Given the description of an element on the screen output the (x, y) to click on. 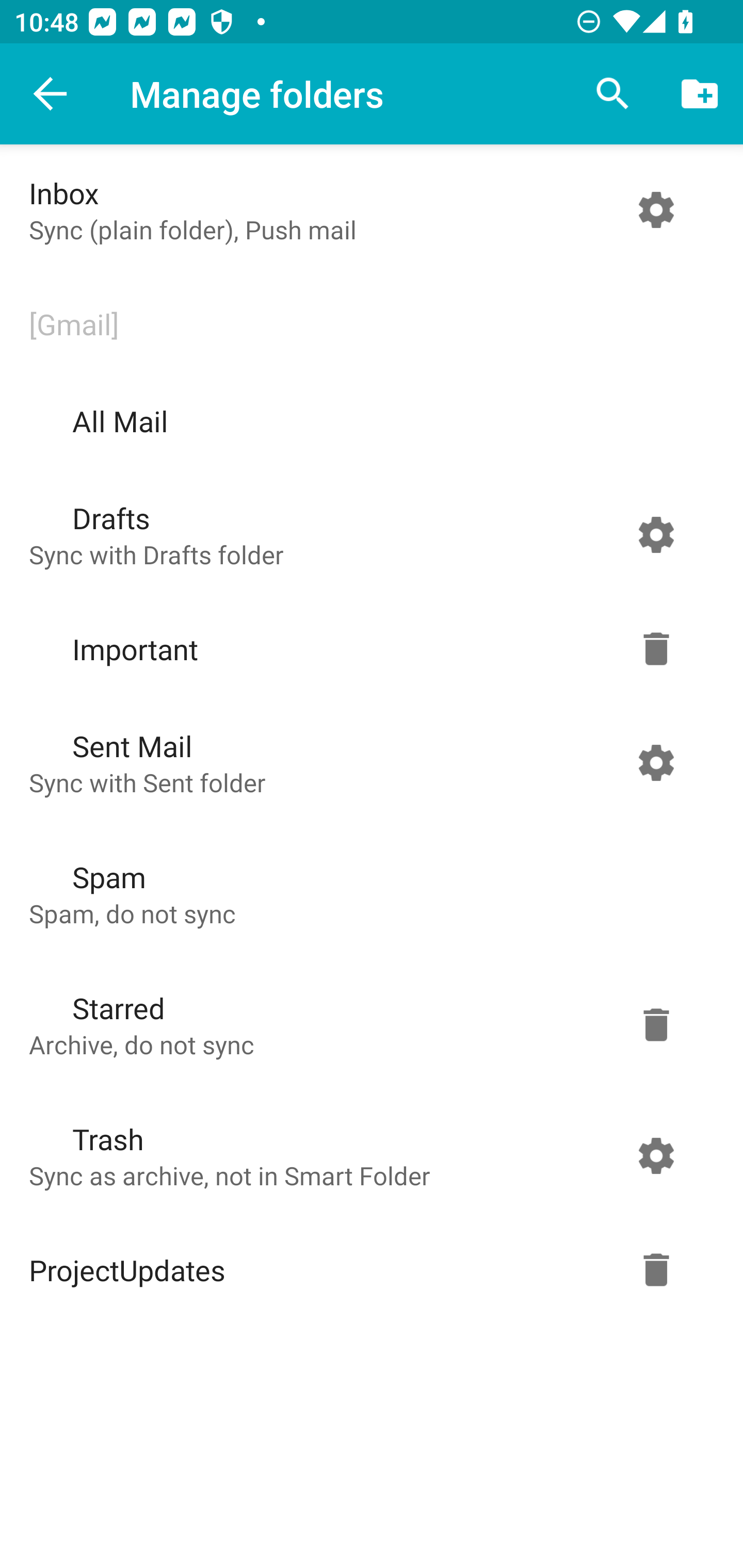
Navigate up (50, 93)
Search folders (612, 93)
Create folder (699, 93)
Folder settings (655, 209)
All Mail (367, 420)
Drafts Sync with Drafts folder Folder settings (367, 534)
Folder settings (655, 534)
Important Folder settings (367, 648)
Folder settings (655, 648)
Sent Mail Sync with Sent folder Folder settings (367, 762)
Folder settings (655, 762)
Spam Spam, do not sync (367, 893)
Starred Archive, do not sync Folder settings (367, 1024)
Folder settings (655, 1024)
Folder settings (655, 1155)
ProjectUpdates Folder settings (367, 1269)
Folder settings (655, 1269)
